Given the description of an element on the screen output the (x, y) to click on. 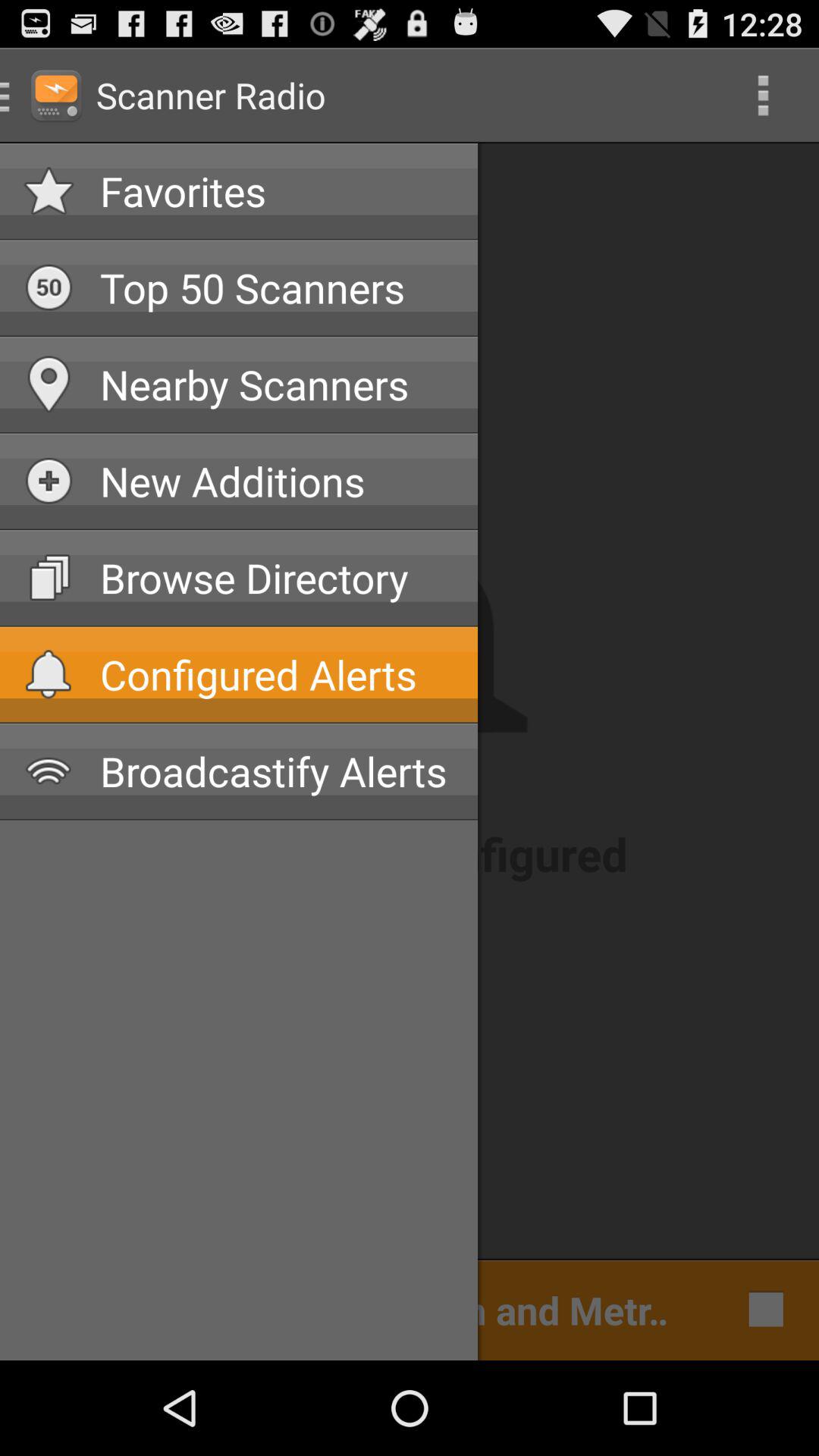
click the icon below configured alerts (276, 771)
